Given the description of an element on the screen output the (x, y) to click on. 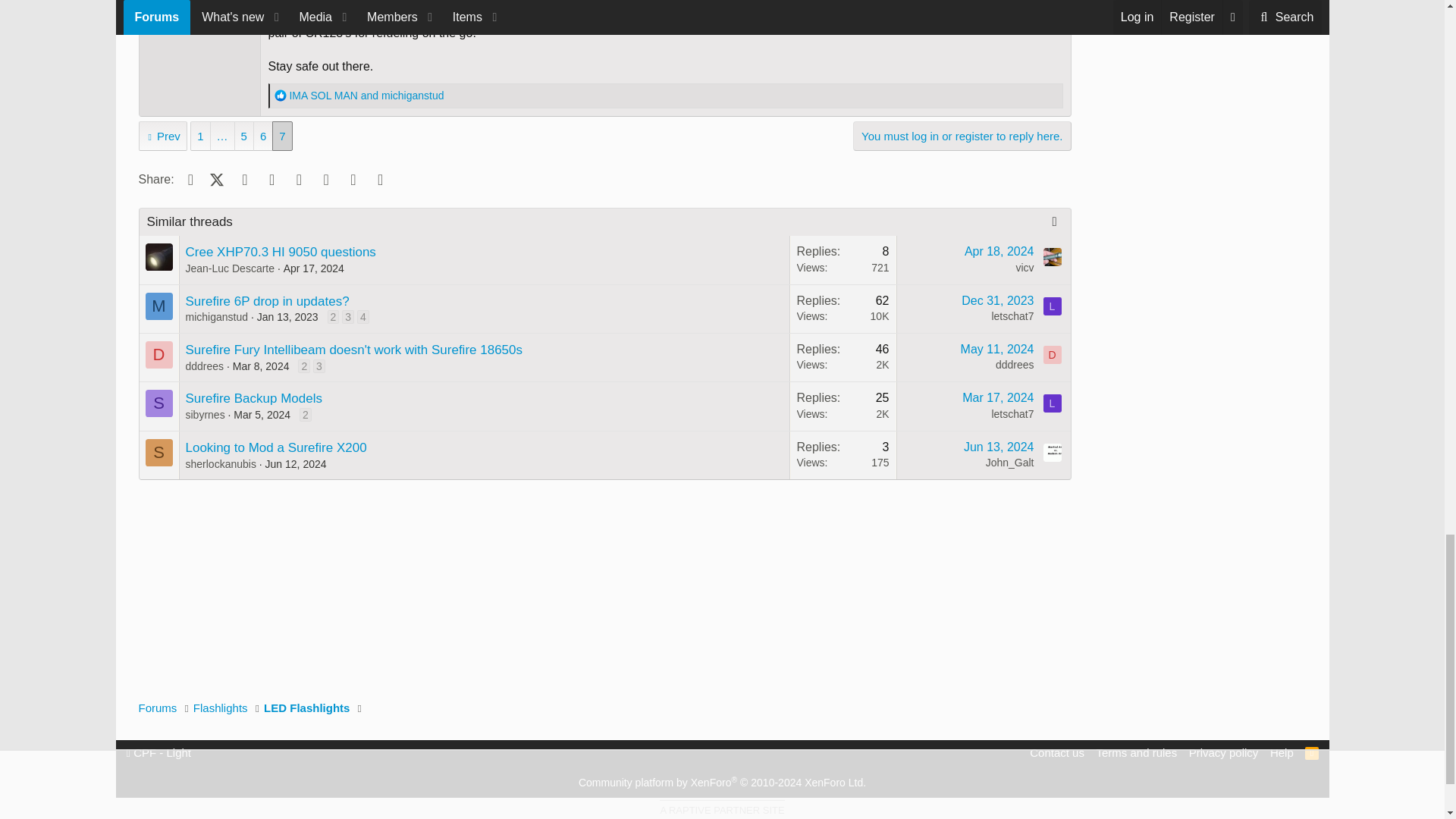
Like (280, 95)
